Given the description of an element on the screen output the (x, y) to click on. 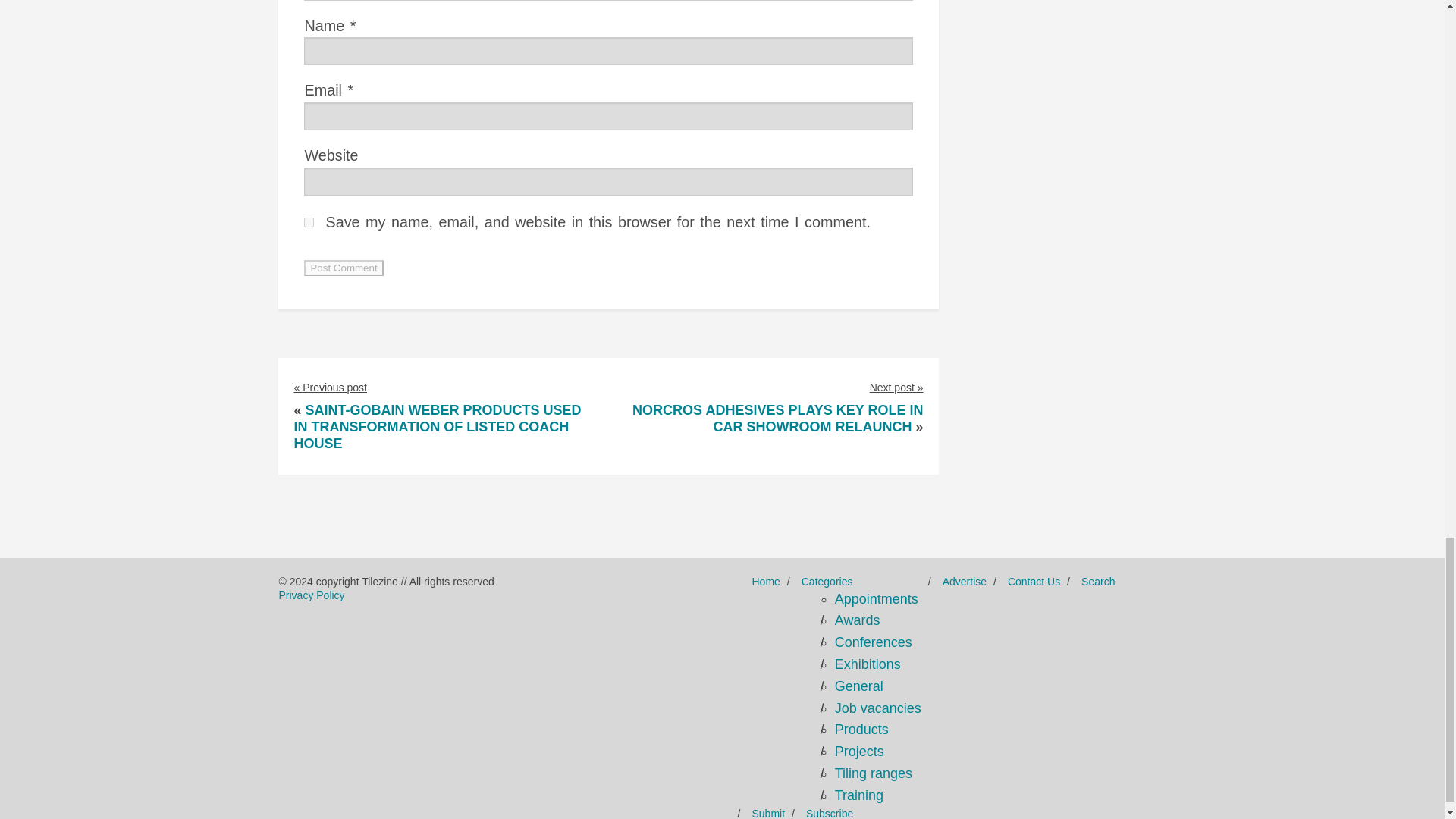
yes (309, 222)
NORCROS ADHESIVES PLAYS KEY ROLE IN CAR SHOWROOM RELAUNCH (777, 418)
Privacy Policy (310, 594)
Post Comment (343, 268)
Post Comment (343, 268)
